Given the description of an element on the screen output the (x, y) to click on. 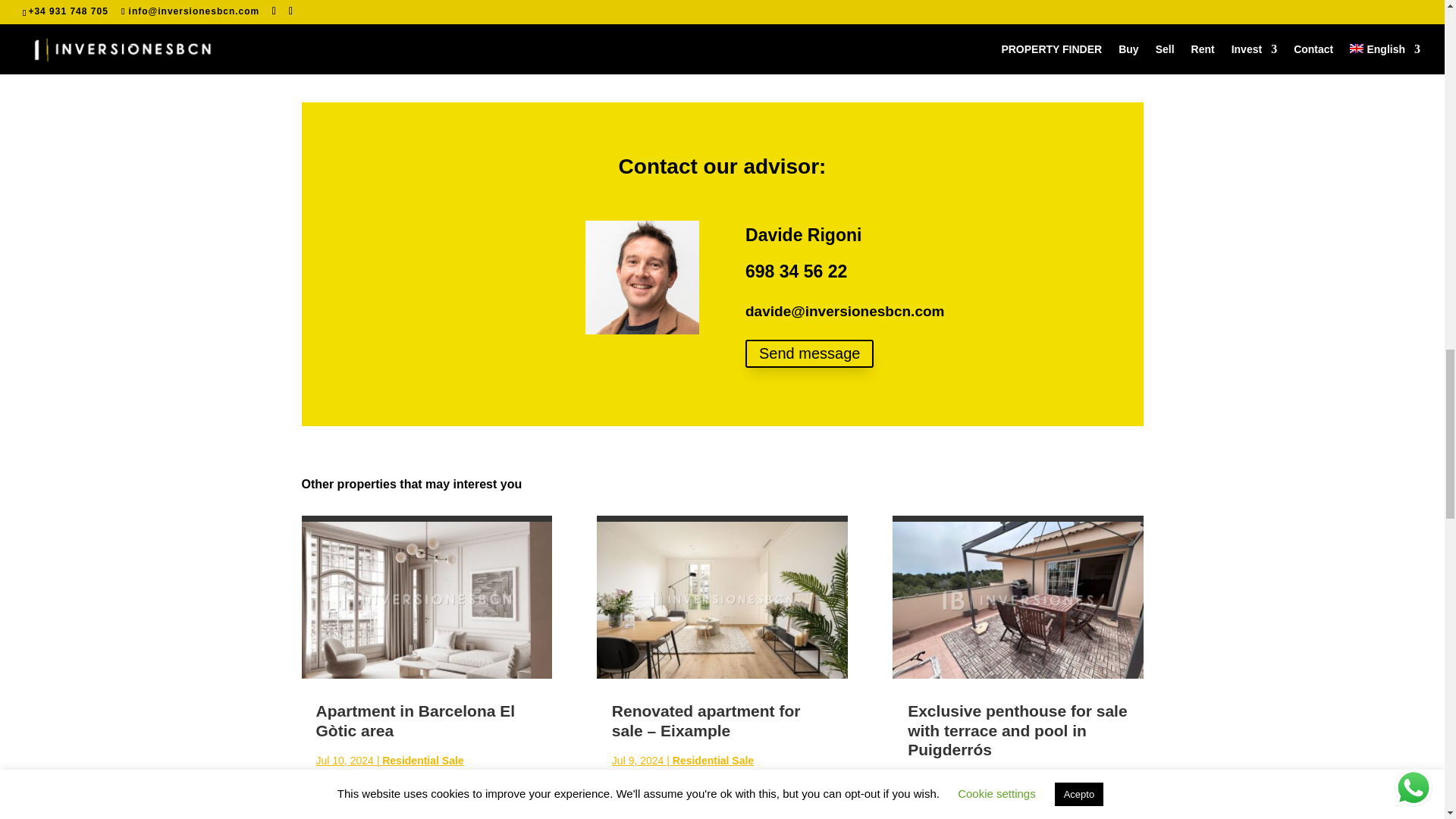
A JS library for interactive maps (562, 53)
